Given the description of an element on the screen output the (x, y) to click on. 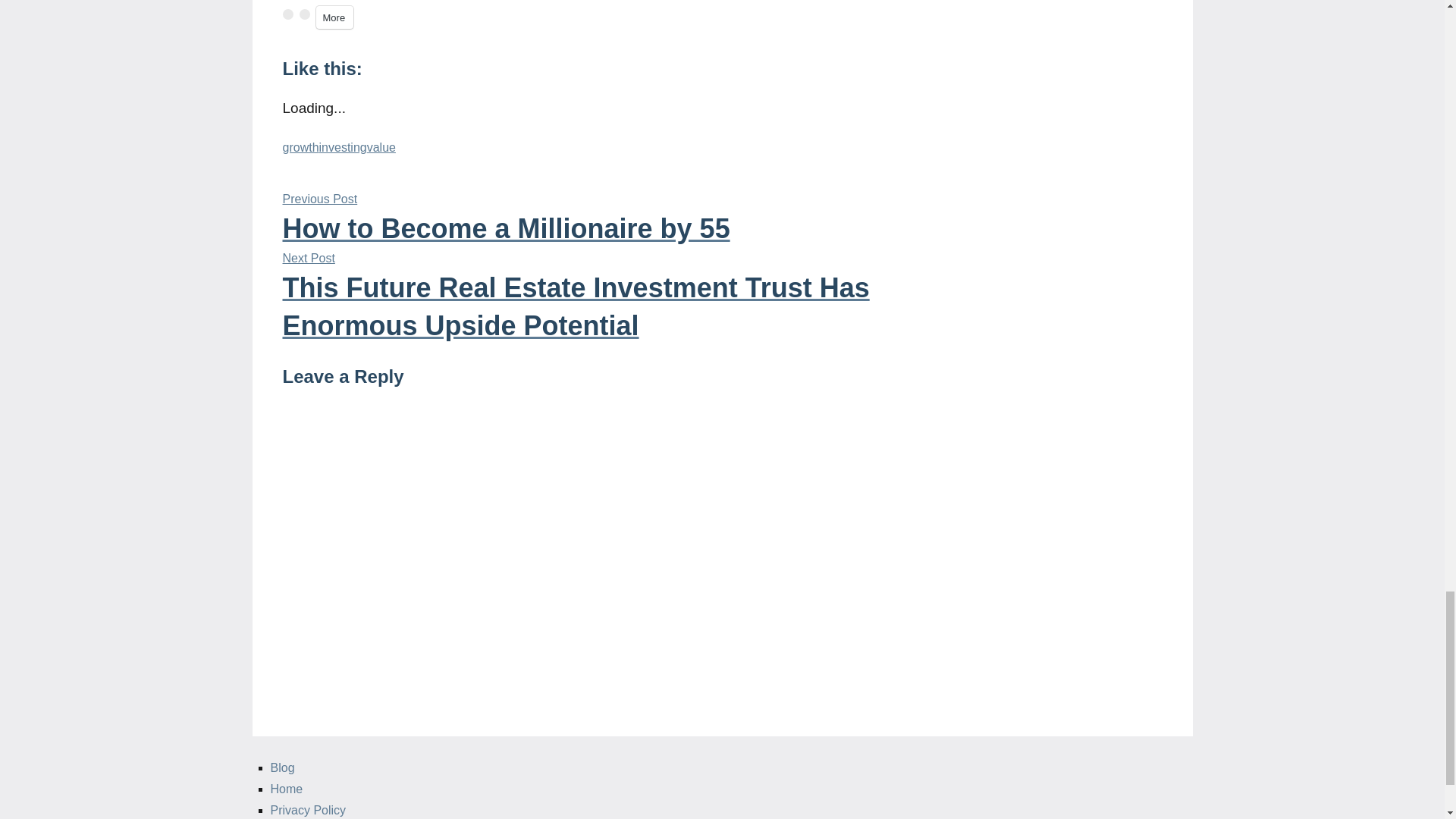
investing (342, 146)
value (381, 146)
growth (300, 146)
More (585, 220)
Click to share on Twitter (334, 16)
Click to share on Facebook (287, 14)
